Given the description of an element on the screen output the (x, y) to click on. 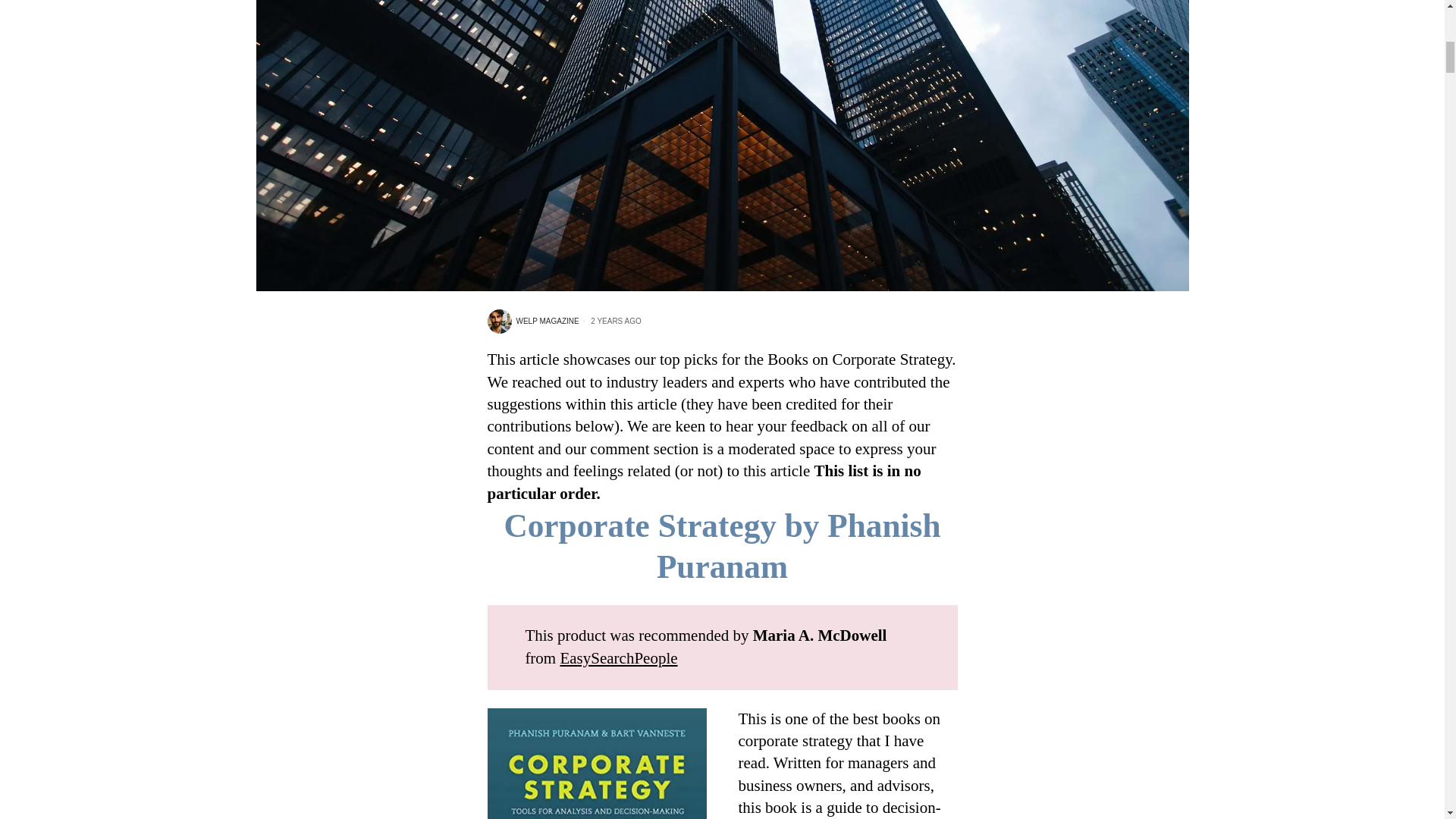
27 Oct, 2022 13:00:31 (610, 321)
WELP MAGAZINE (532, 321)
Corporate Strategy by Phanish Puranam (721, 545)
